Given the description of an element on the screen output the (x, y) to click on. 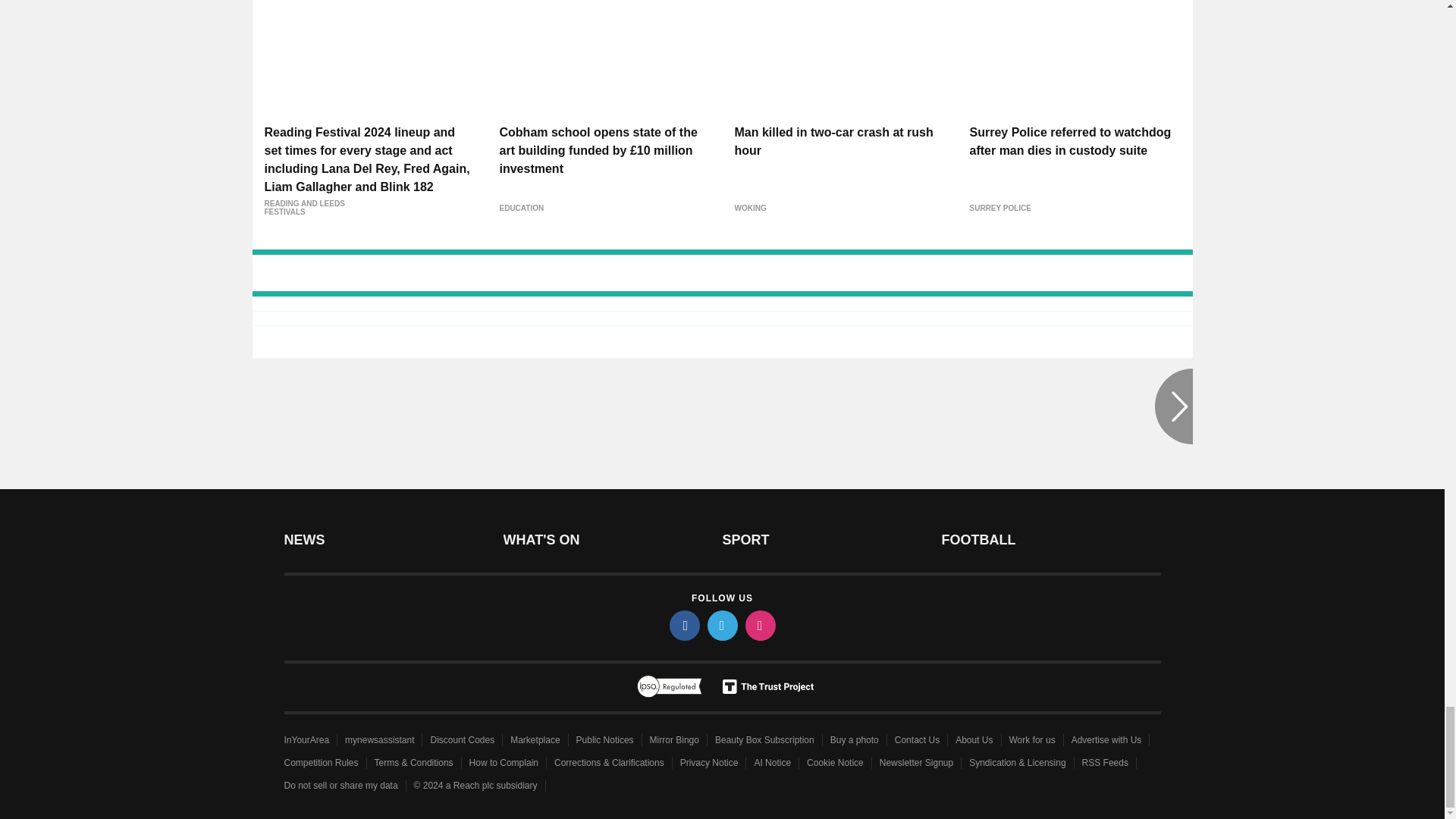
facebook (683, 625)
twitter (721, 625)
instagram (759, 625)
